Given the description of an element on the screen output the (x, y) to click on. 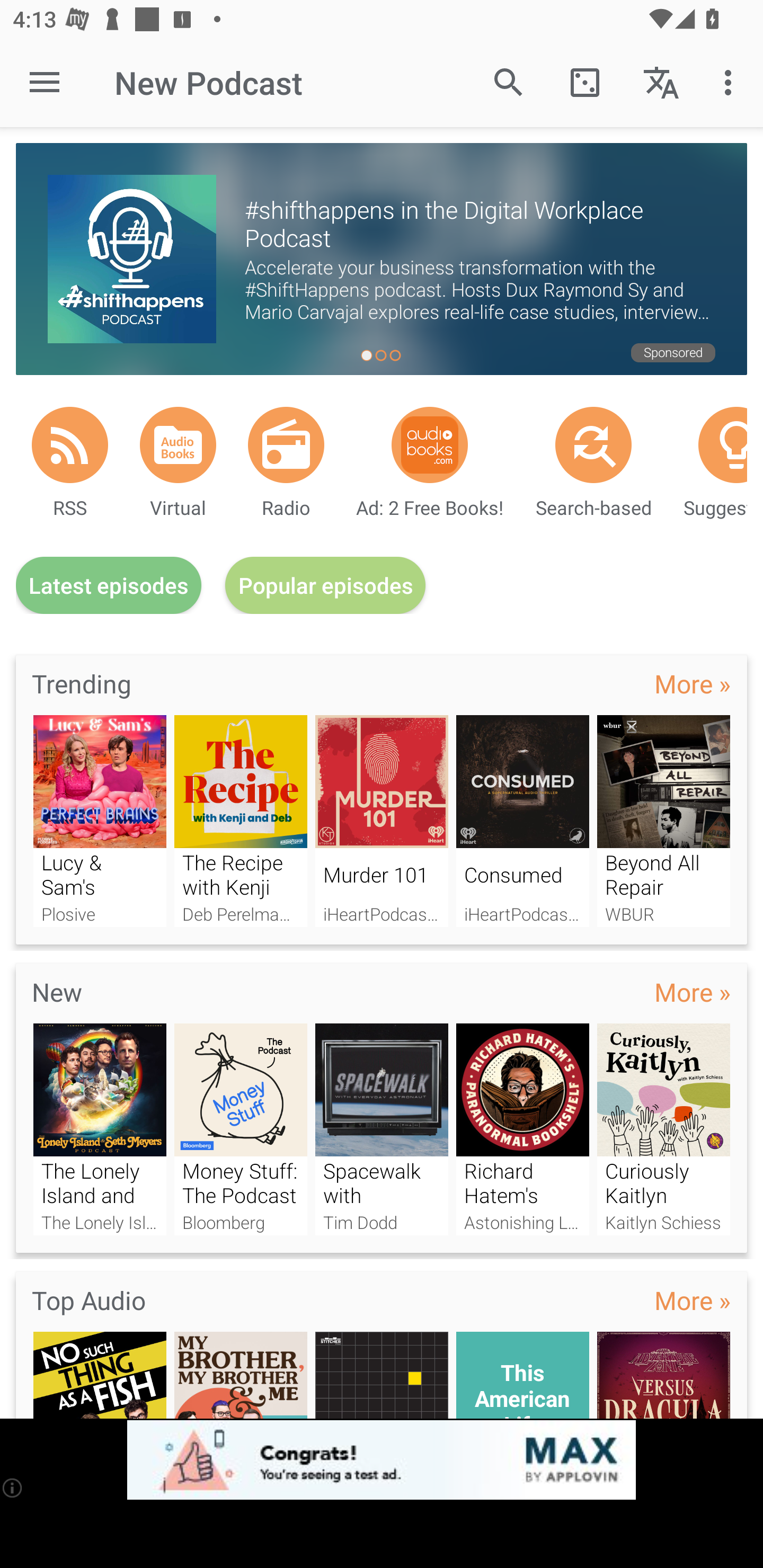
Open navigation sidebar (44, 82)
Search (508, 81)
Random pick (585, 81)
Podcast languages (661, 81)
More options (731, 81)
RSS (70, 444)
Virtual (177, 444)
Radio (285, 444)
Search-based (593, 444)
Suggestions (722, 444)
Latest episodes (108, 585)
Popular episodes (325, 585)
More » (692, 683)
Lucy & Sam's Perfect Brains Plosive (99, 820)
Murder 101 iHeartPodcasts (381, 820)
Consumed iHeartPodcasts and Grim & Mild (522, 820)
Beyond All Repair WBUR (663, 820)
More » (692, 992)
Money Stuff: The Podcast Bloomberg (240, 1129)
Spacewalk with Everyday Astronaut Tim Dodd (381, 1129)
Curiously Kaitlyn Kaitlyn Schiess (663, 1129)
More » (692, 1299)
This American Life (522, 1375)
app-monetization (381, 1459)
(i) (11, 1487)
